Given the description of an element on the screen output the (x, y) to click on. 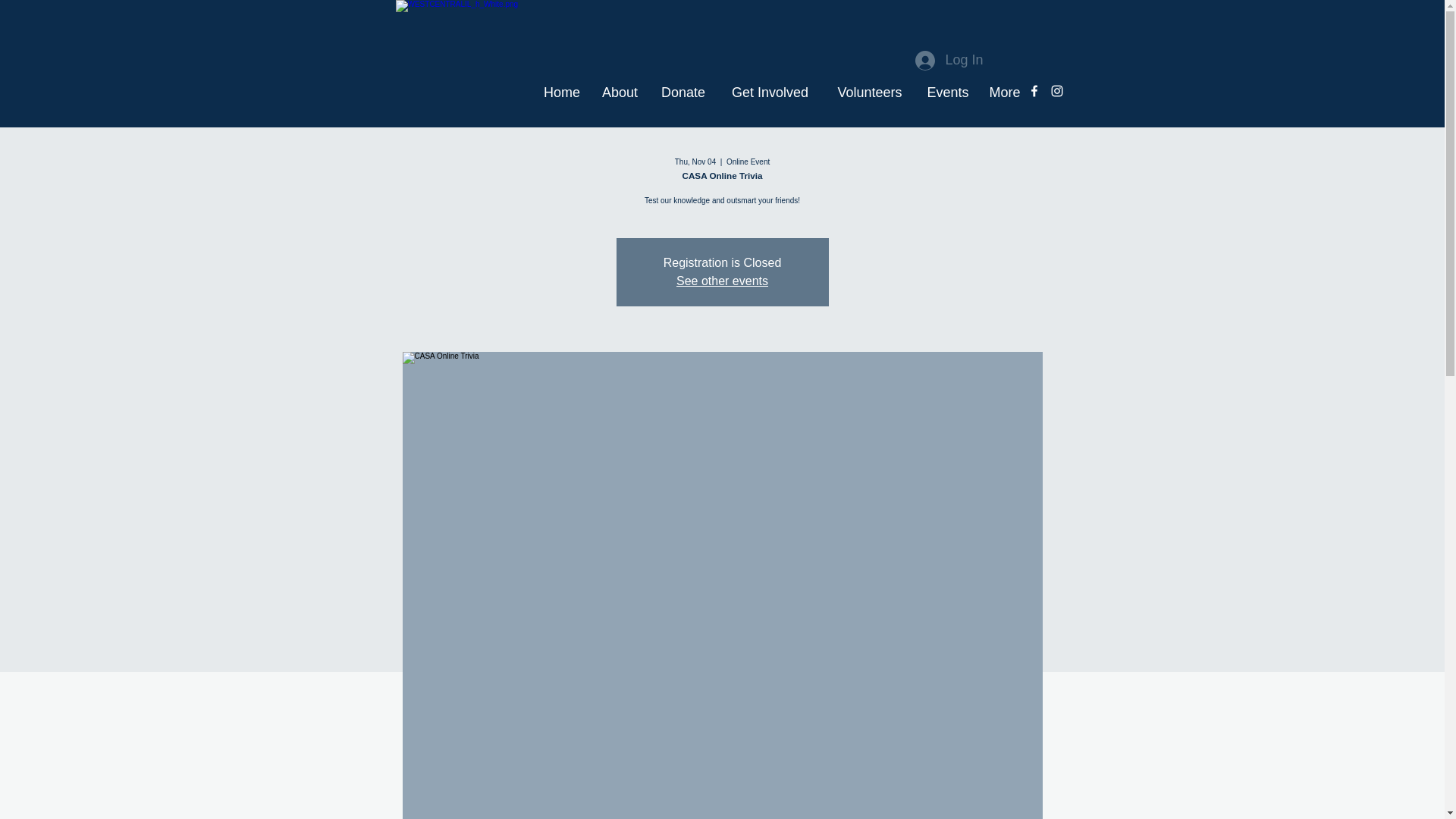
Donate (683, 90)
Log In (933, 60)
See other events (722, 280)
Get Involved (769, 90)
Events (947, 90)
Home (561, 90)
About (620, 90)
